Given the description of an element on the screen output the (x, y) to click on. 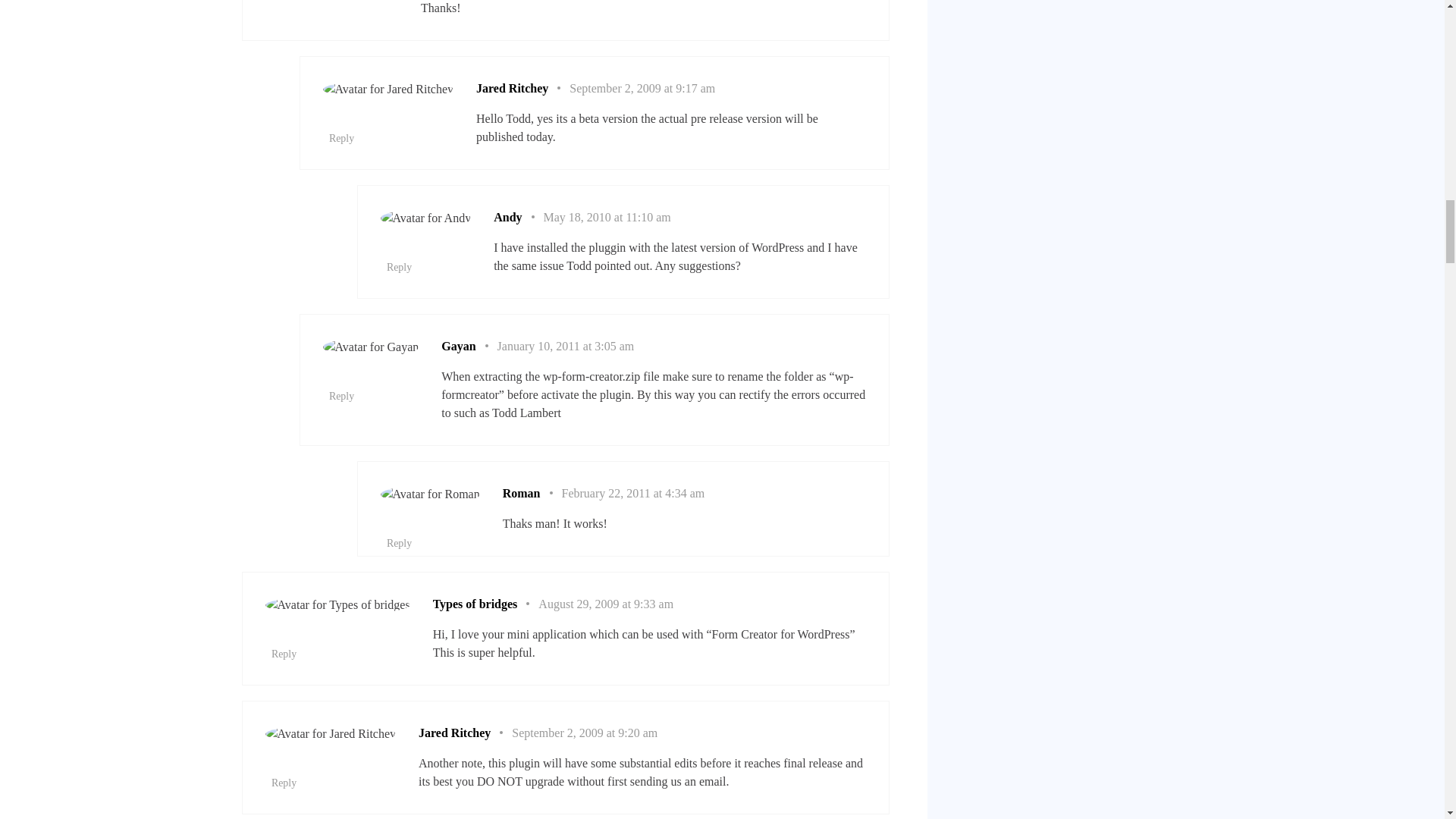
January 10, 2011 at 3:05 am (565, 345)
Gravatar for Types of bridges (337, 605)
May 18, 2010 at 11:10 am (607, 216)
September 2, 2009 at 9:20 am (585, 732)
Gravatar for Roman (430, 494)
February 22, 2011 at 4:34 am (632, 492)
Gravatar for Andy (425, 218)
August 29, 2009 at 9:33 am (605, 603)
Gravatar for Gayan (371, 347)
Gravatar for Jared Ritchey (388, 89)
Gravatar for Jared Ritchey (330, 733)
September 2, 2009 at 9:17 am (641, 88)
